Given the description of an element on the screen output the (x, y) to click on. 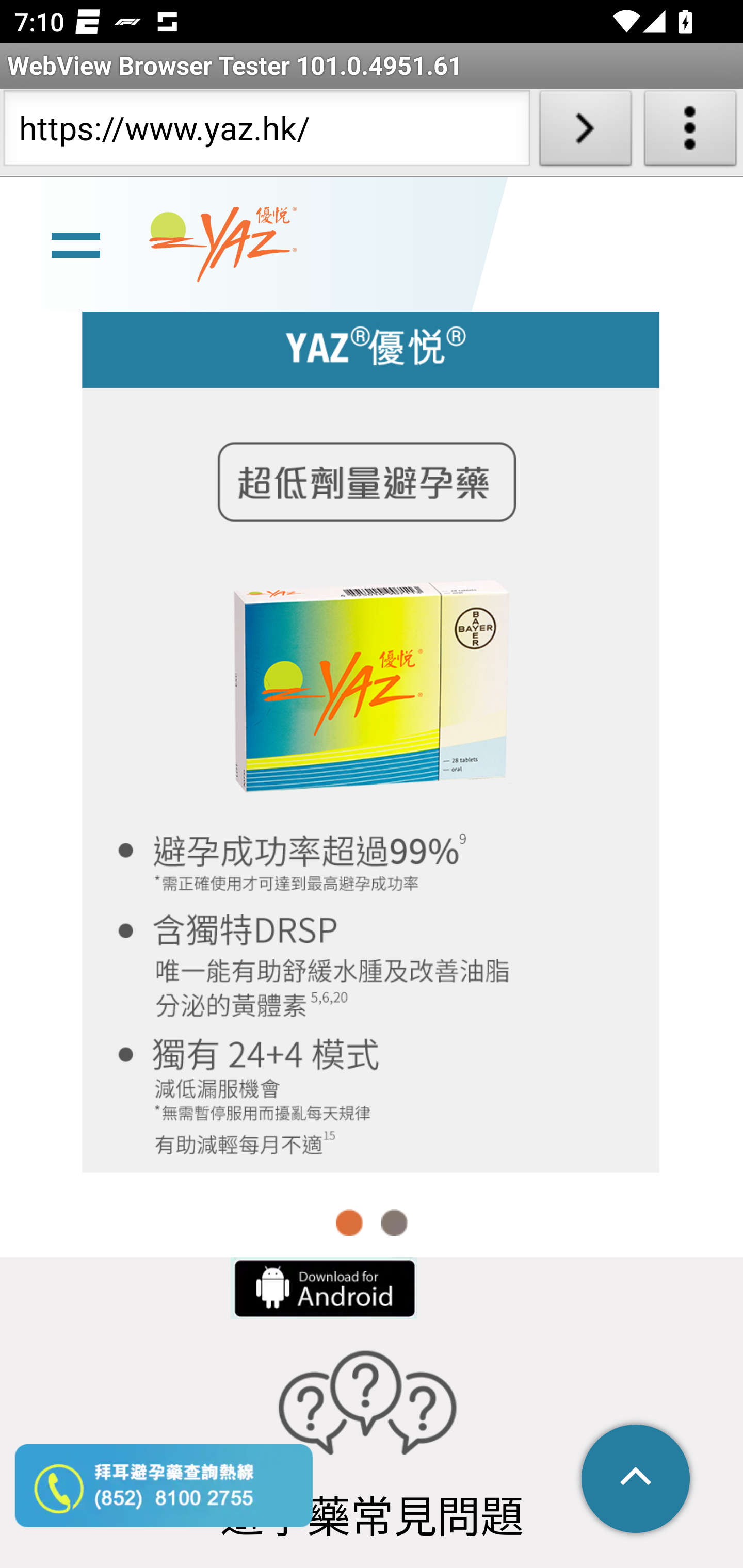
https://www.yaz.hk/ (266, 132)
Load URL (585, 132)
About WebView (690, 132)
www.yaz (222, 244)
line Toggle burger menu (75, 242)
slide 1 (371, 732)
1 of 2 (349, 1222)
2 of 2 (393, 1222)
details?id=com.bayer.ph (322, 1287)
 (636, 1480)
